Given the description of an element on the screen output the (x, y) to click on. 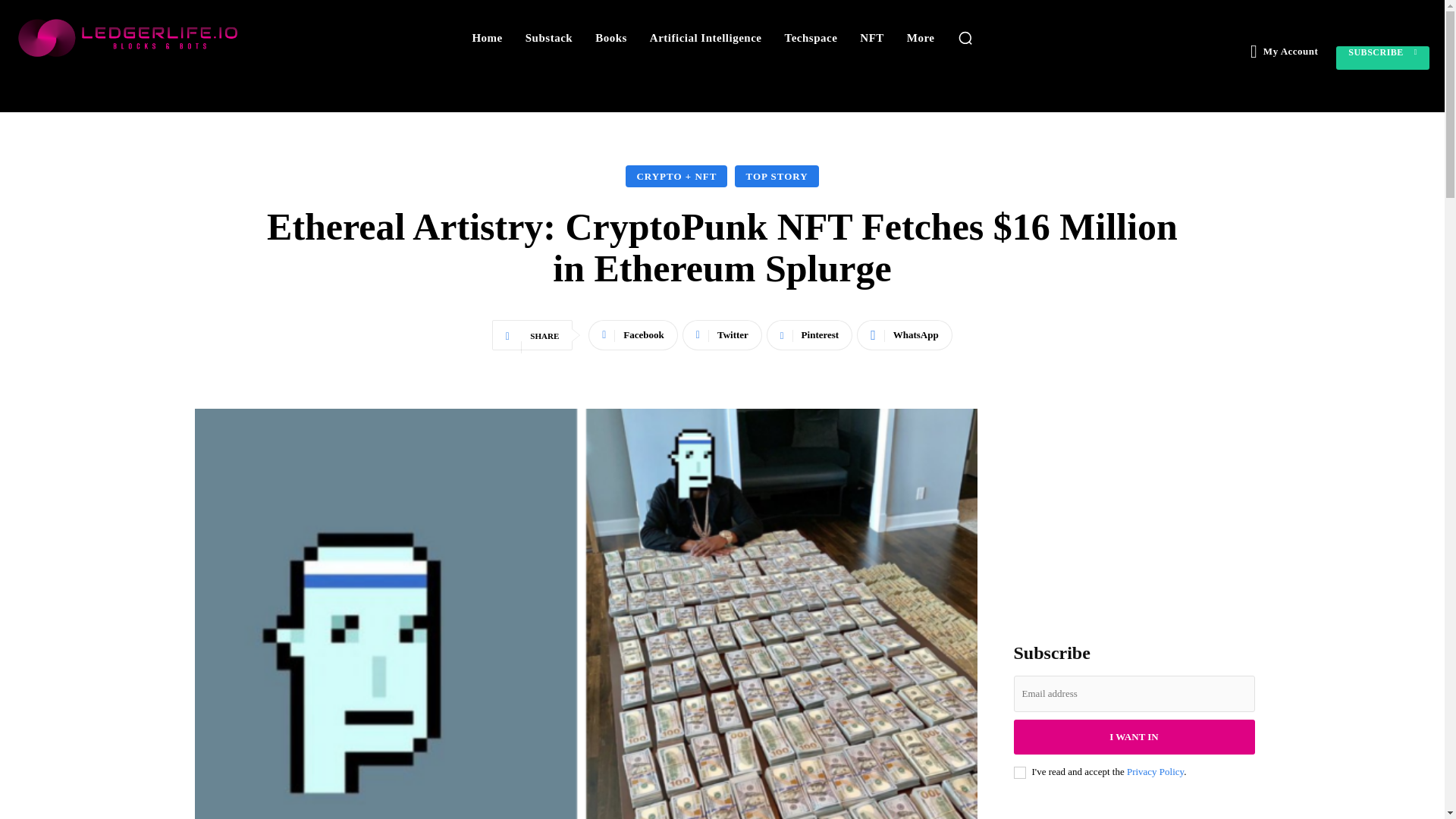
SUBSCRIBE (1382, 57)
WhatsApp (904, 335)
Facebook (633, 335)
Pinterest (809, 335)
Artificial Intelligence (706, 38)
Techspace (811, 38)
Subscribe (1382, 57)
Twitter (721, 335)
Advertisement (1133, 503)
